Given the description of an element on the screen output the (x, y) to click on. 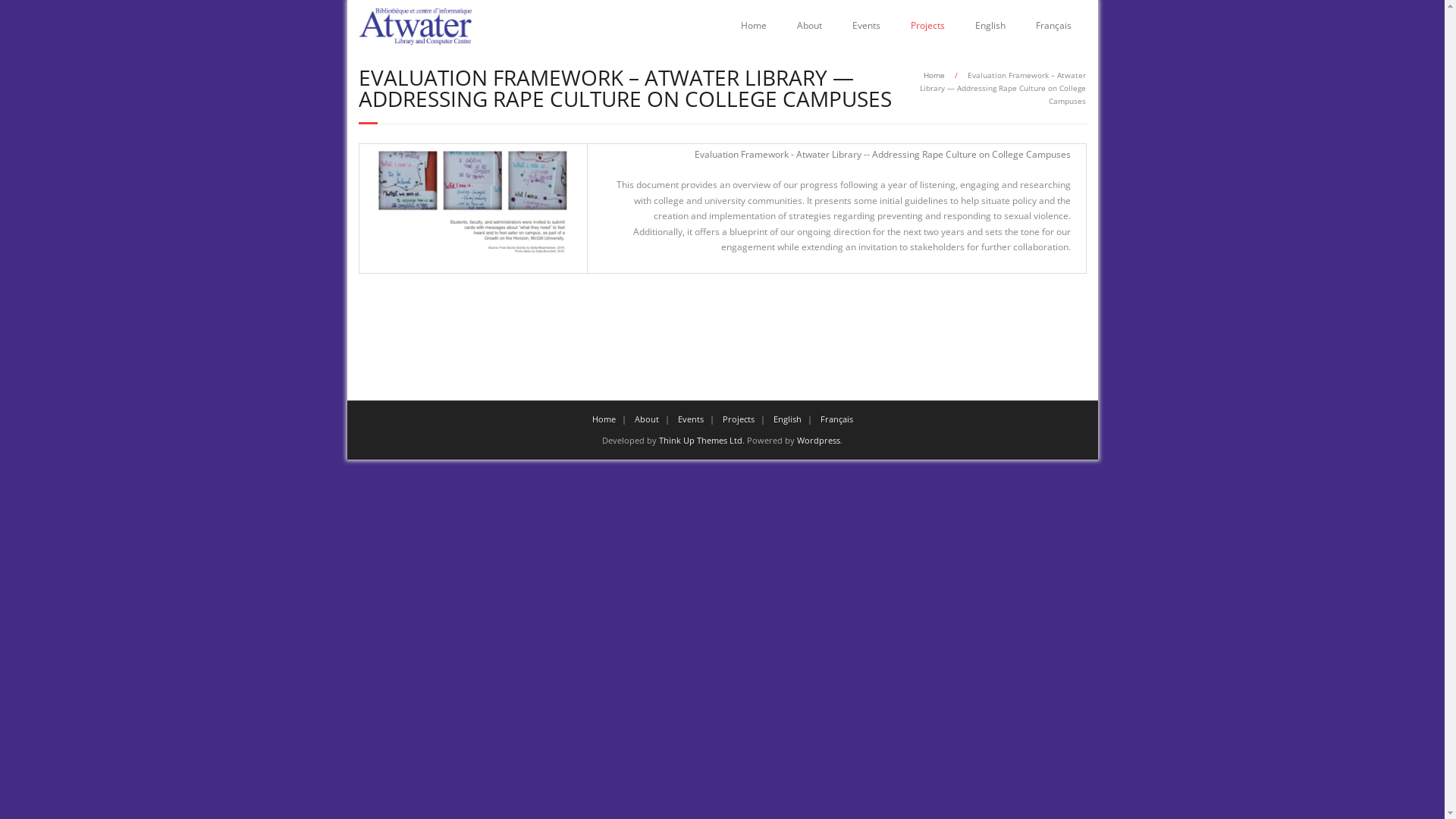
Home Element type: text (752, 25)
Events Element type: text (866, 25)
English Element type: text (990, 25)
Events Element type: text (690, 418)
Home Element type: text (933, 74)
Projects Element type: text (737, 418)
Think Up Themes Ltd Element type: text (700, 439)
English Element type: text (787, 418)
Projects Element type: text (926, 25)
Wordpress Element type: text (818, 439)
Home Element type: text (603, 418)
About Element type: text (808, 25)
About Element type: text (645, 418)
